Given the description of an element on the screen output the (x, y) to click on. 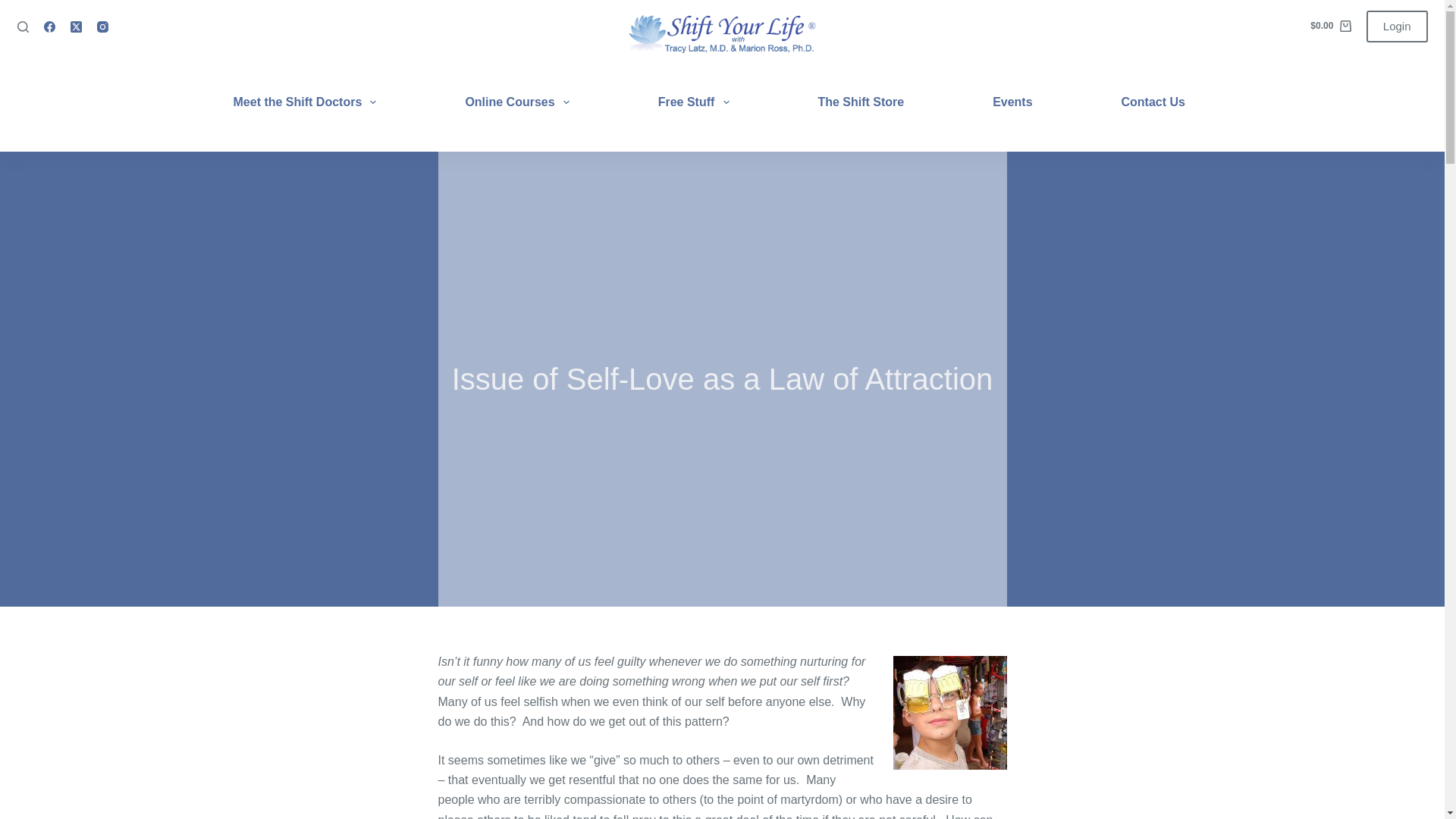
Meet the Shift Doctors (313, 102)
Skip to content (15, 7)
Online Courses (517, 102)
beerglasses (950, 712)
Login (1397, 26)
Issue of Self-Love as a Law of Attraction (722, 378)
